Given the description of an element on the screen output the (x, y) to click on. 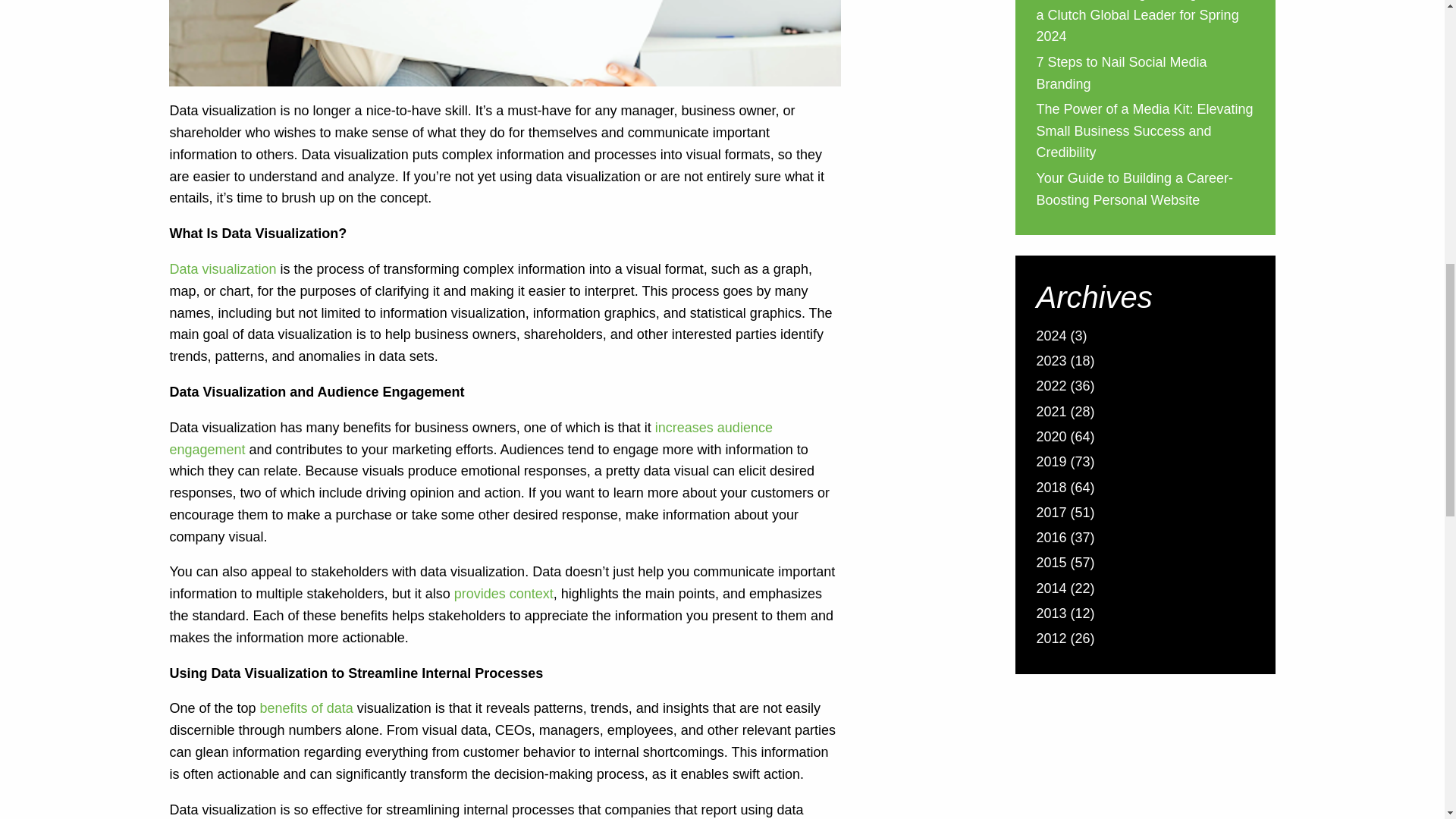
2023 (1050, 362)
2022 (1050, 387)
7 Steps to Nail Social Media Branding (1121, 74)
2024 (1050, 337)
Your Guide to Building a Career-Boosting Personal Website (1134, 190)
provides context (503, 593)
benefits of data (306, 708)
2021 (1050, 413)
2019 (1050, 463)
Data visualization (222, 268)
increases audience engagement (469, 438)
2020 (1050, 438)
